Given the description of an element on the screen output the (x, y) to click on. 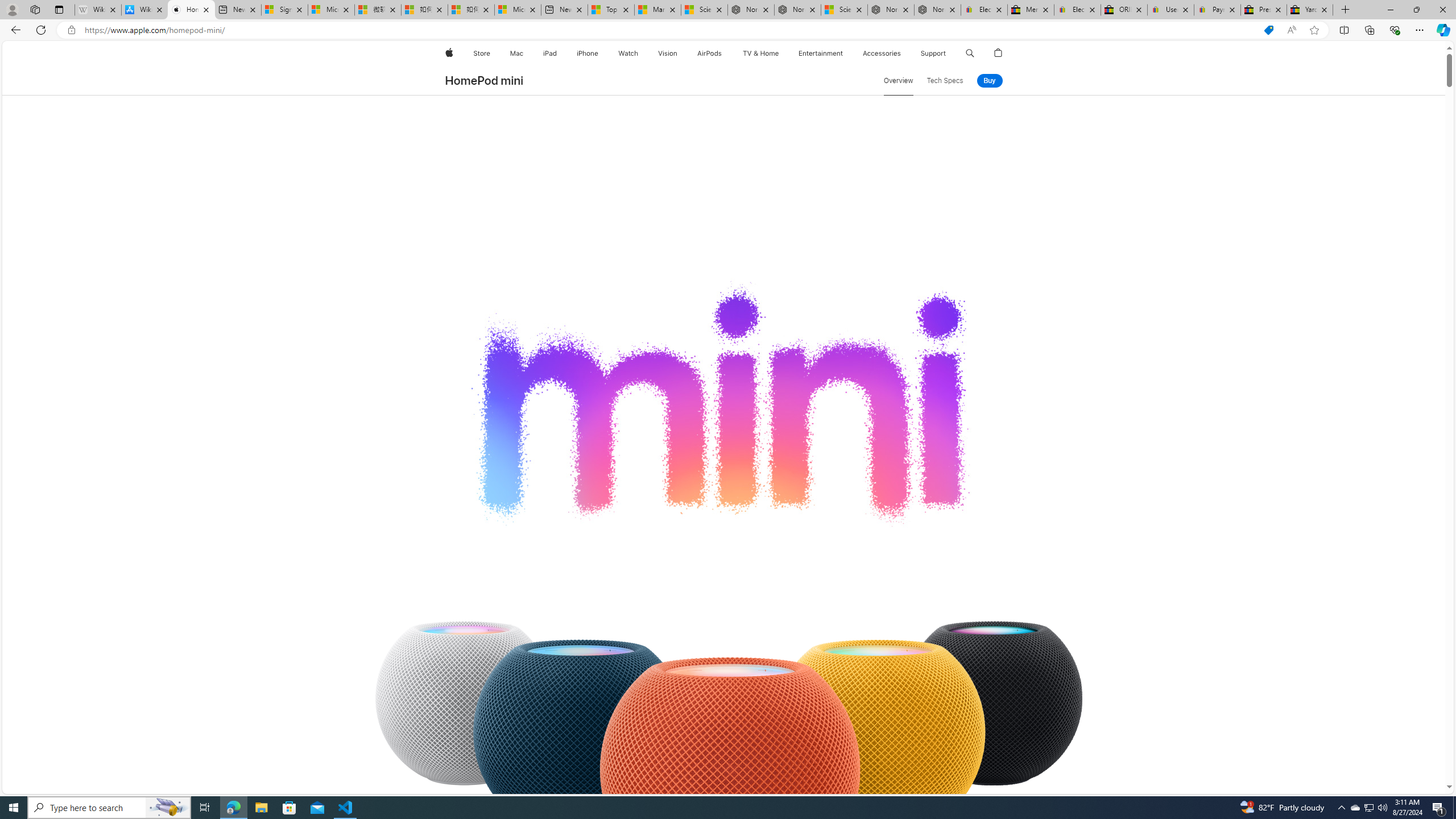
iPhone (587, 53)
Mac menu (524, 53)
Support (932, 53)
iPhone (587, 53)
Entertainment (820, 53)
Search apple.com (969, 53)
Accessories menu (903, 53)
Entertainment menu (844, 53)
Shopping Bag (998, 53)
Accessories (881, 53)
Overview (897, 80)
